Given the description of an element on the screen output the (x, y) to click on. 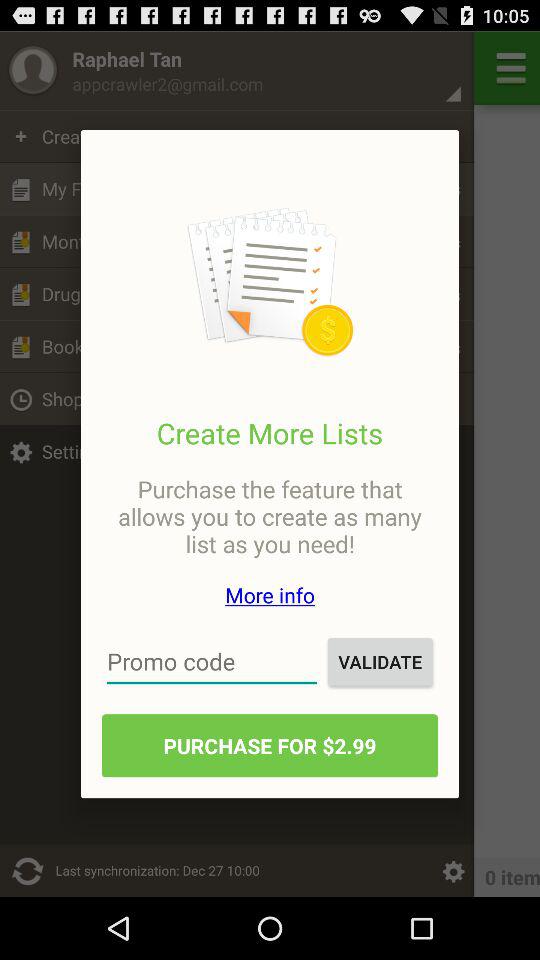
turn on item above purchase for 2 icon (212, 661)
